Given the description of an element on the screen output the (x, y) to click on. 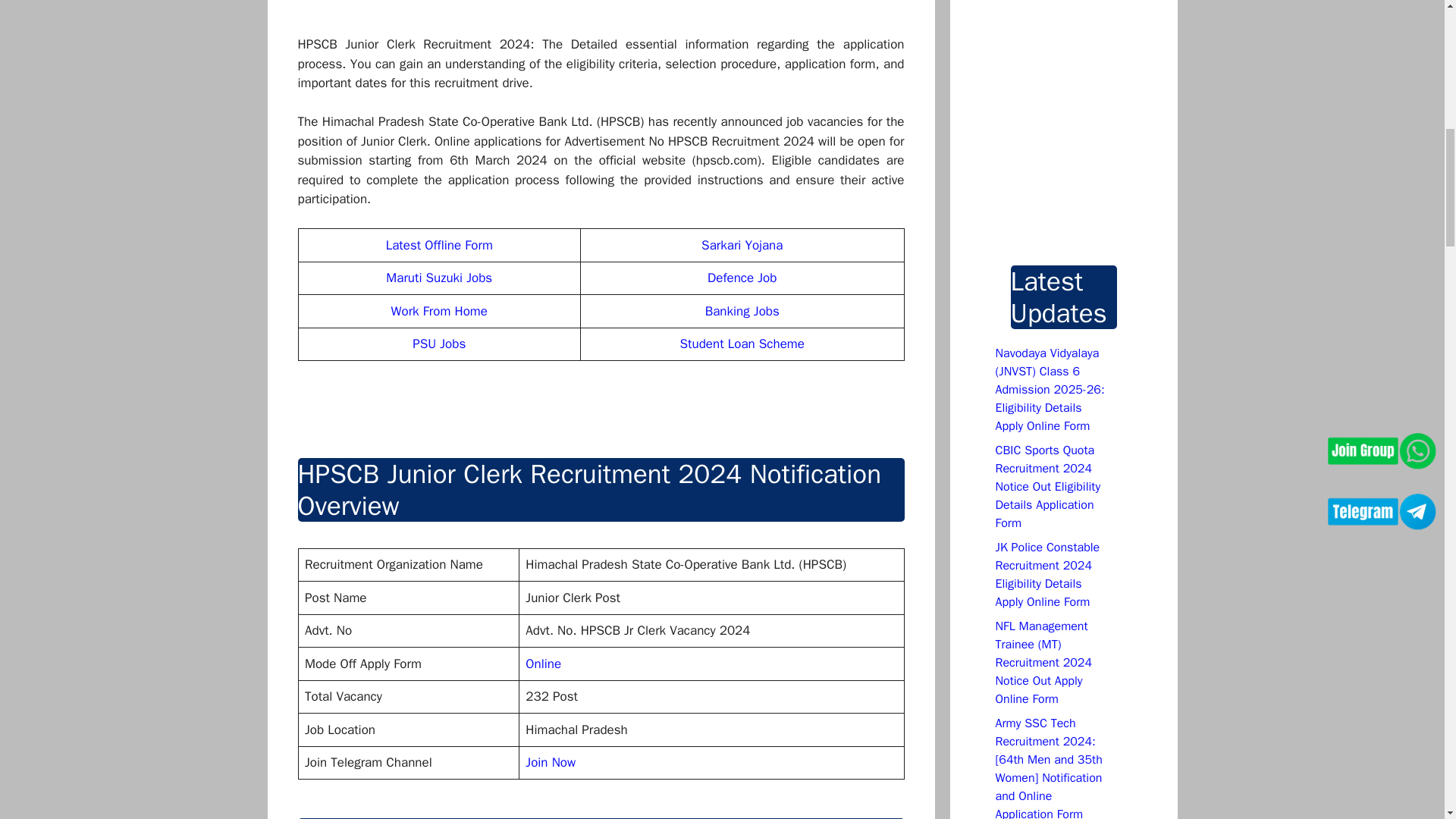
Online (542, 662)
Maruti Suzuki Jobs (438, 277)
Banking Jobs (741, 311)
Work From Home (439, 311)
Join Now (550, 762)
Student Loan Scheme (742, 343)
Defence Job (741, 277)
Advertisement (647, 17)
PSU Jobs (438, 343)
Latest Offline Form (439, 244)
Sarkari Yojana (742, 244)
